Given the description of an element on the screen output the (x, y) to click on. 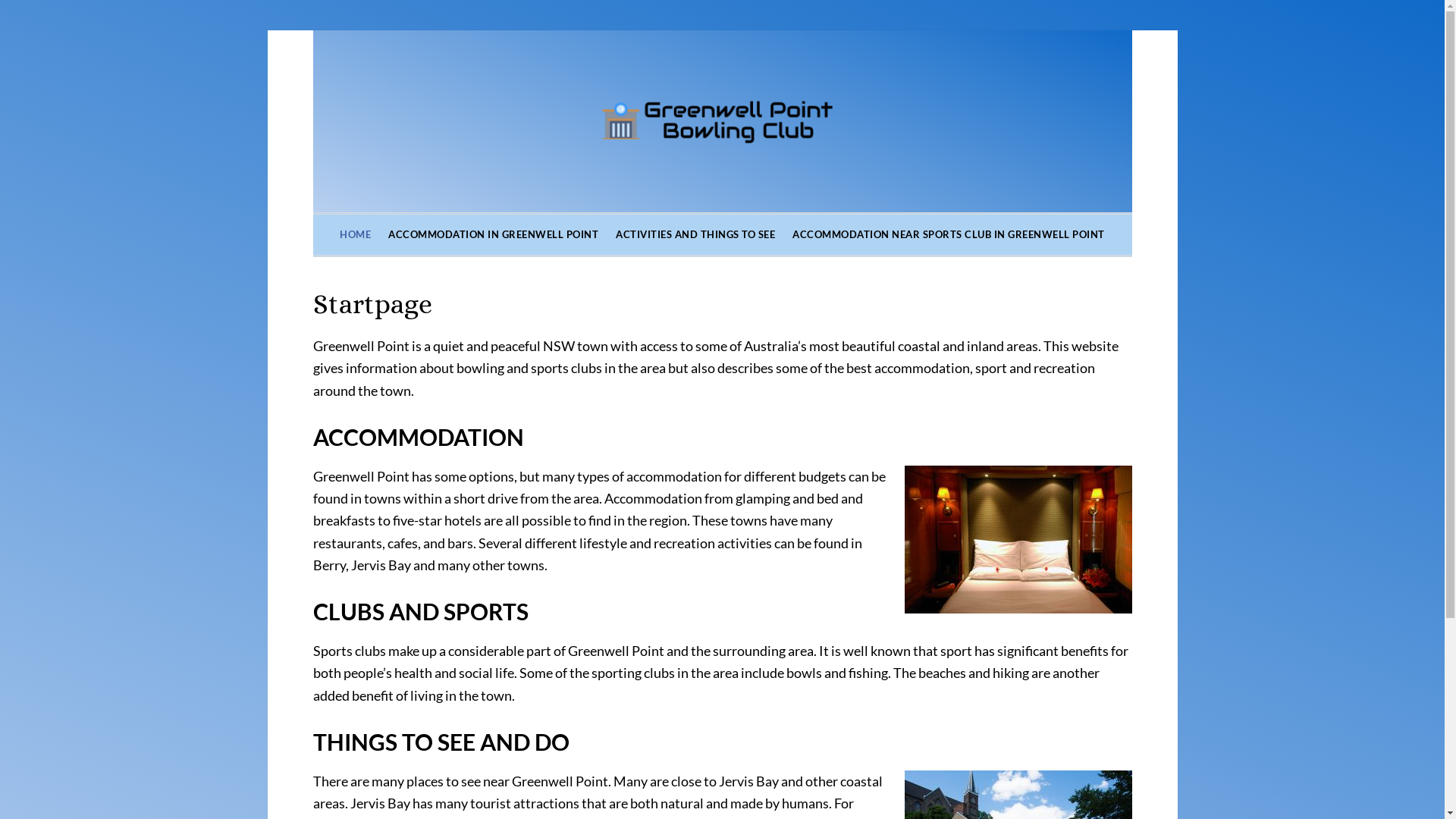
HOME Element type: text (355, 234)
Skip to primary navigation Element type: text (0, 0)
ACTIVITIES AND THINGS TO SEE Element type: text (695, 234)
ACCOMMODATION NEAR SPORTS CLUB IN GREENWELL POINT Element type: text (948, 234)
GREENWELLPOINTBOWLINGCLUB.COM.AU Element type: text (721, 121)
ACCOMMODATION IN GREENWELL POINT Element type: text (492, 234)
